Given the description of an element on the screen output the (x, y) to click on. 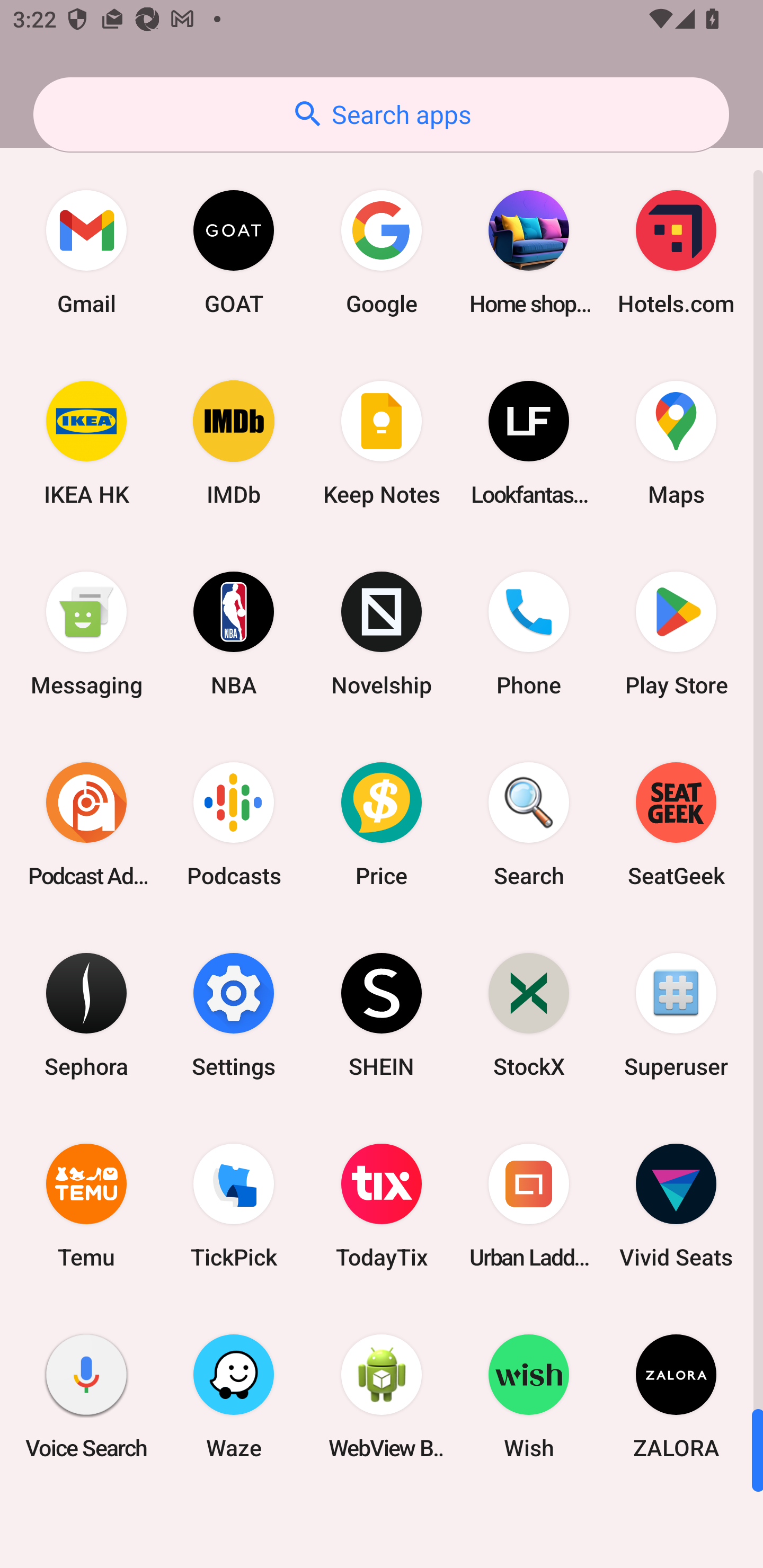
  Search apps (381, 114)
Gmail (86, 252)
GOAT (233, 252)
Google (381, 252)
Home shopping (528, 252)
Hotels.com (676, 252)
IKEA HK (86, 442)
IMDb (233, 442)
Keep Notes (381, 442)
Lookfantastic (528, 442)
Maps (676, 442)
Messaging (86, 633)
NBA (233, 633)
Novelship (381, 633)
Phone (528, 633)
Play Store (676, 633)
Podcast Addict (86, 823)
Podcasts (233, 823)
Price (381, 823)
Search (528, 823)
SeatGeek (676, 823)
Sephora (86, 1014)
Settings (233, 1014)
SHEIN (381, 1014)
StockX (528, 1014)
Superuser (676, 1014)
Temu (86, 1205)
TickPick (233, 1205)
TodayTix (381, 1205)
Urban Ladder (528, 1205)
Vivid Seats (676, 1205)
Voice Search (86, 1396)
Waze (233, 1396)
WebView Browser Tester (381, 1396)
Wish (528, 1396)
ZALORA (676, 1396)
